Given the description of an element on the screen output the (x, y) to click on. 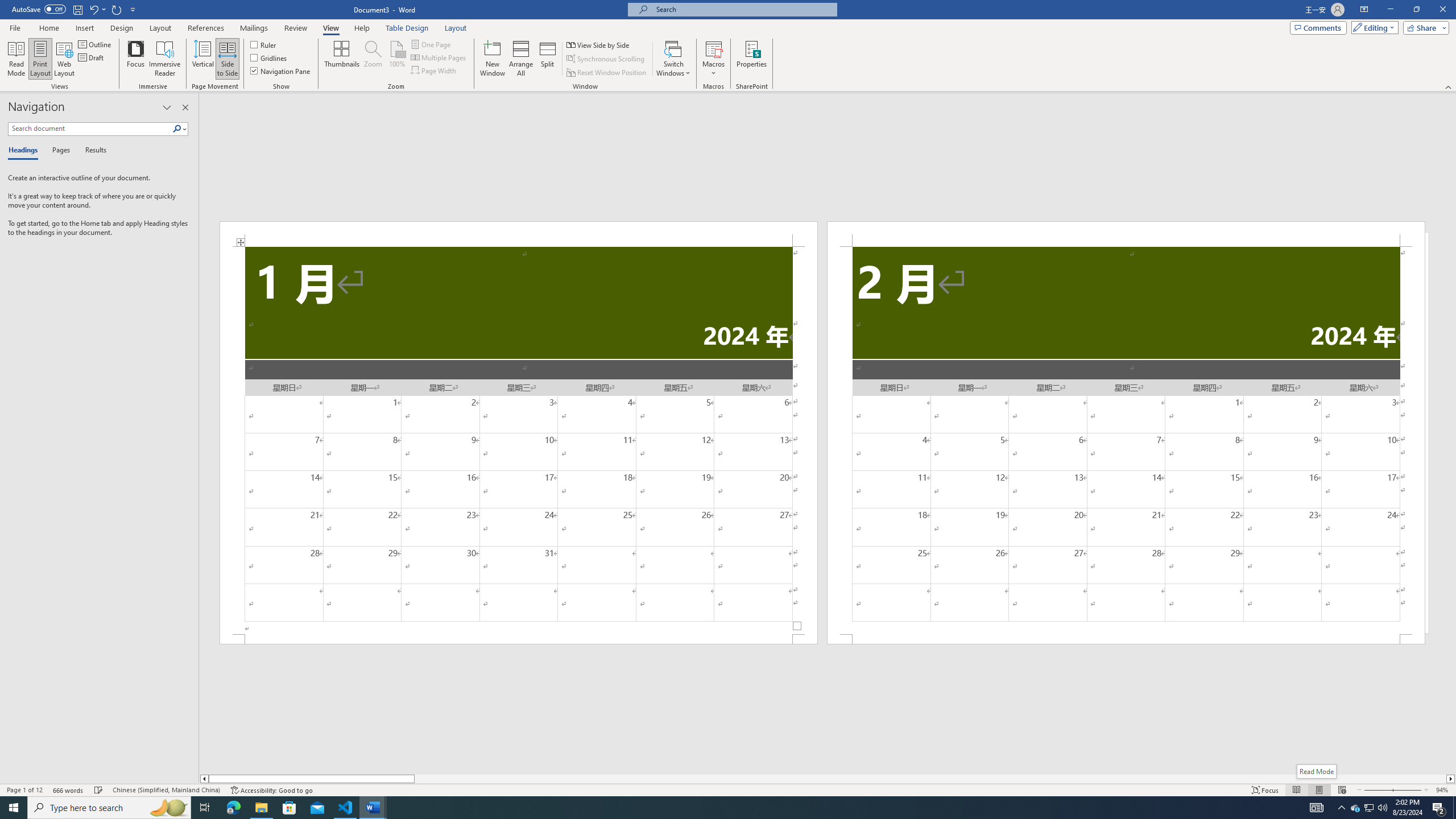
Headings (25, 150)
Search document (89, 128)
View Macros (713, 48)
Word Count 666 words (68, 790)
Thumbnails (342, 58)
One Page (431, 44)
Focus (135, 58)
